Given the description of an element on the screen output the (x, y) to click on. 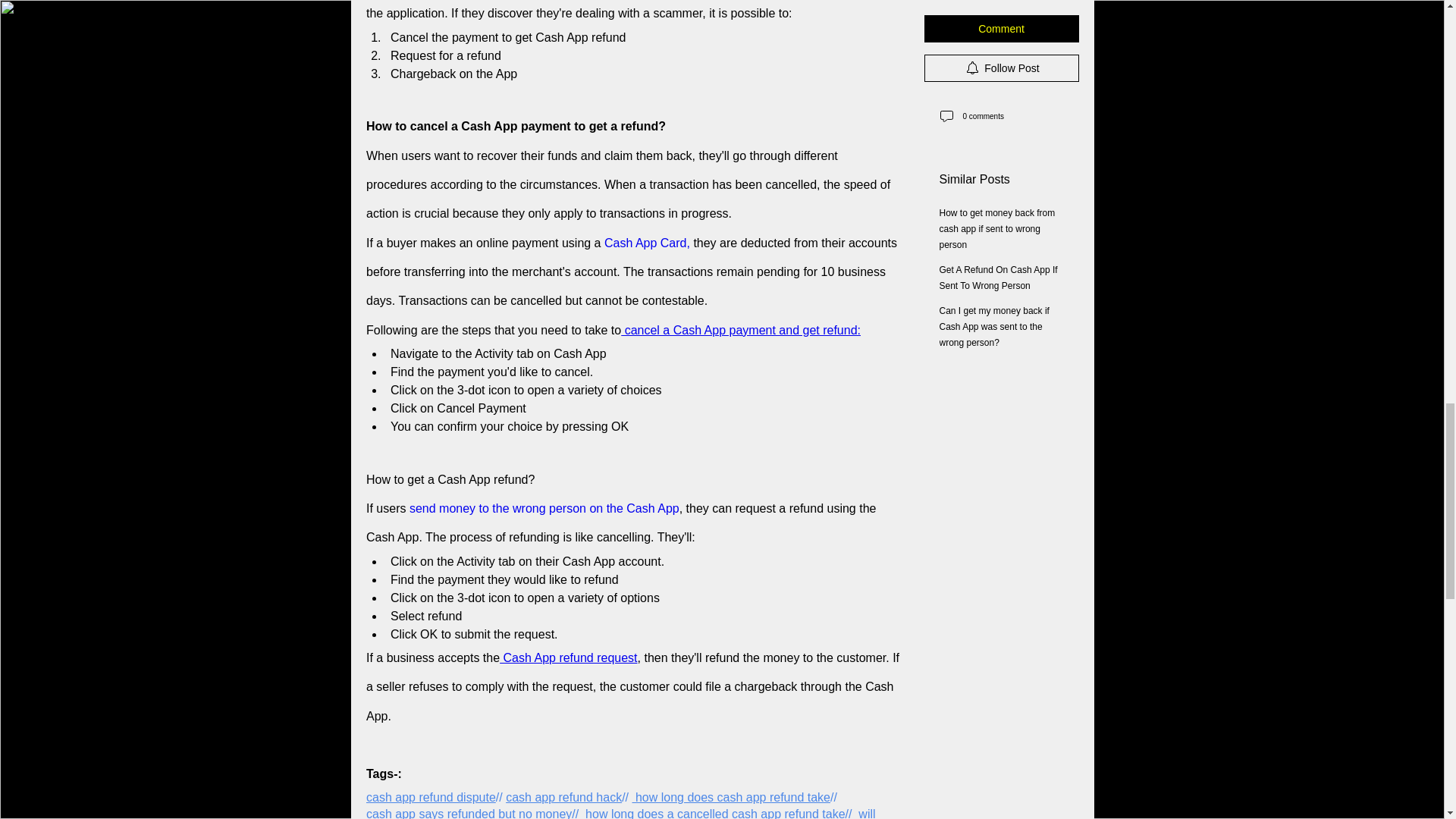
cash app refund hack (563, 797)
how long does a cancelled cash app refund take (714, 813)
 Cash App refund request (568, 657)
 how long does cash app refund take (730, 797)
cash app says refunded but no money (467, 813)
Cash App Card,  (648, 242)
cash app refund dispute (430, 797)
send money to the wrong person on the Cash App (543, 508)
 cancel a Cash App payment and get refund: (740, 329)
